Given the description of an element on the screen output the (x, y) to click on. 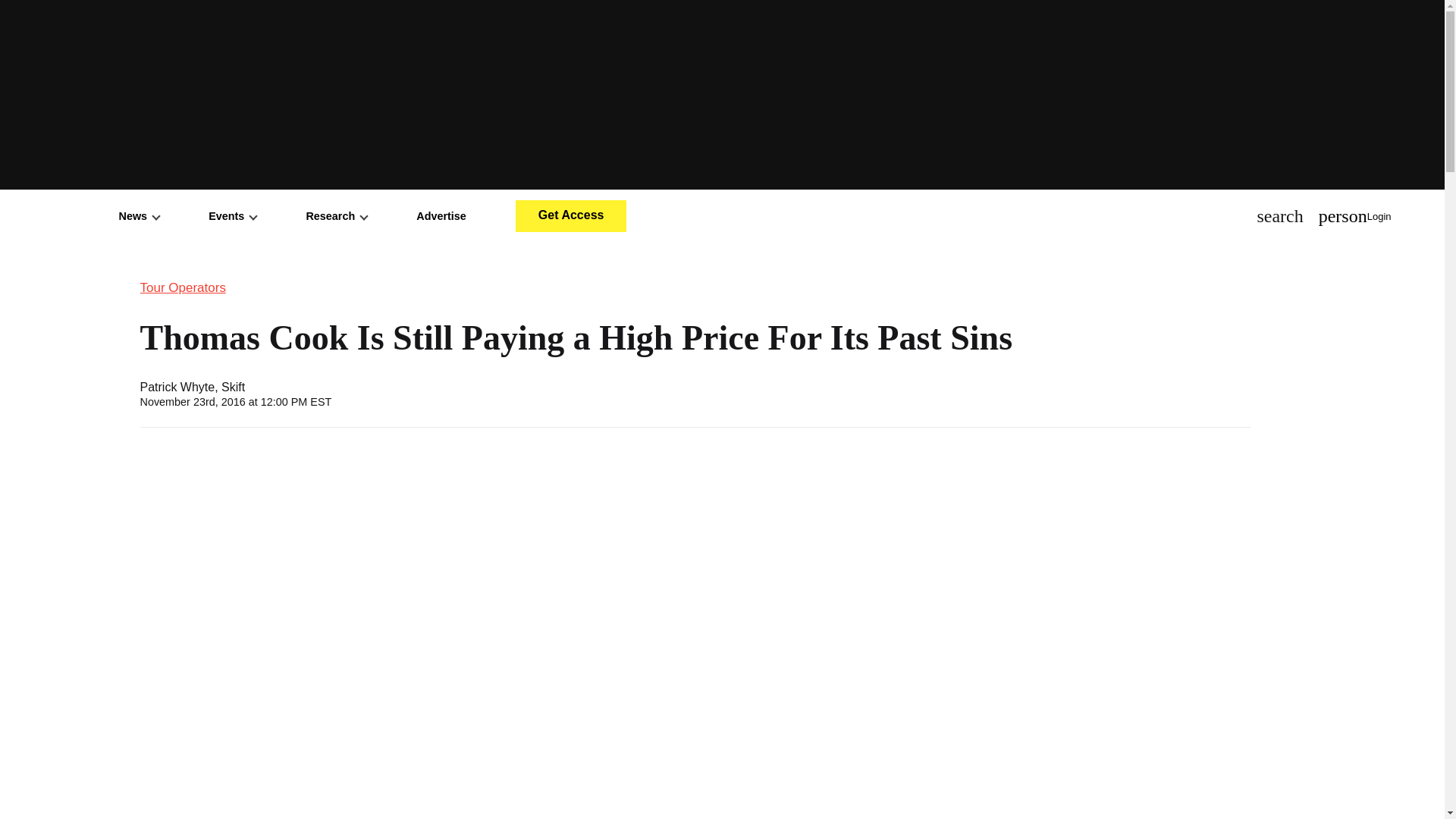
Events (232, 215)
Research (335, 215)
